Given the description of an element on the screen output the (x, y) to click on. 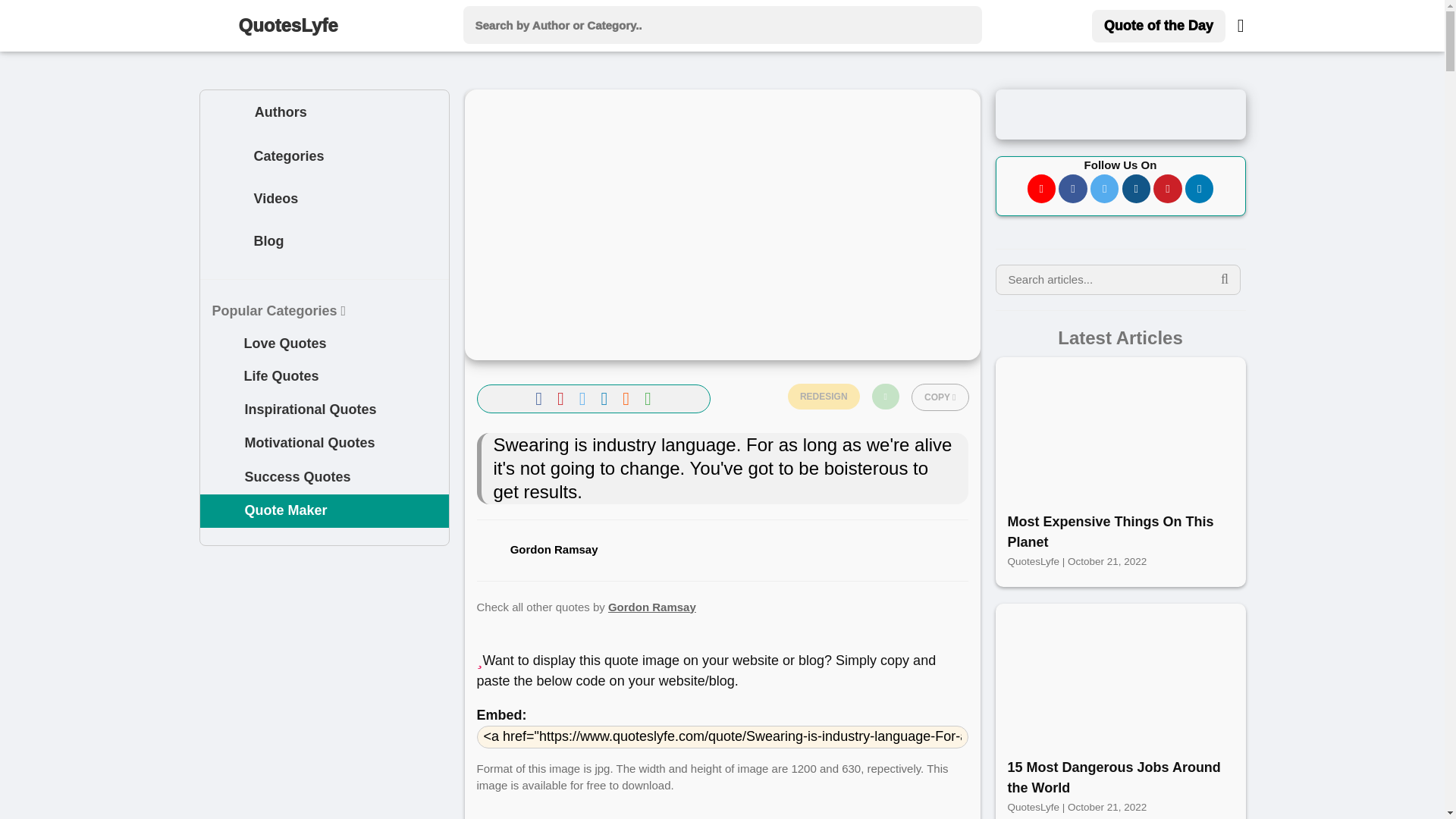
   Videos (324, 200)
QuotesLyfe (290, 25)
  Quote Maker (324, 510)
Share on Facebook (541, 398)
Author (226, 112)
   Authors (324, 112)
   Categories (324, 157)
Success (222, 477)
Categories (227, 157)
  Life Quotes (324, 376)
  Success Quotes (324, 477)
Love (222, 343)
  Inspirational Quotes (324, 409)
Blog (227, 242)
